Given the description of an element on the screen output the (x, y) to click on. 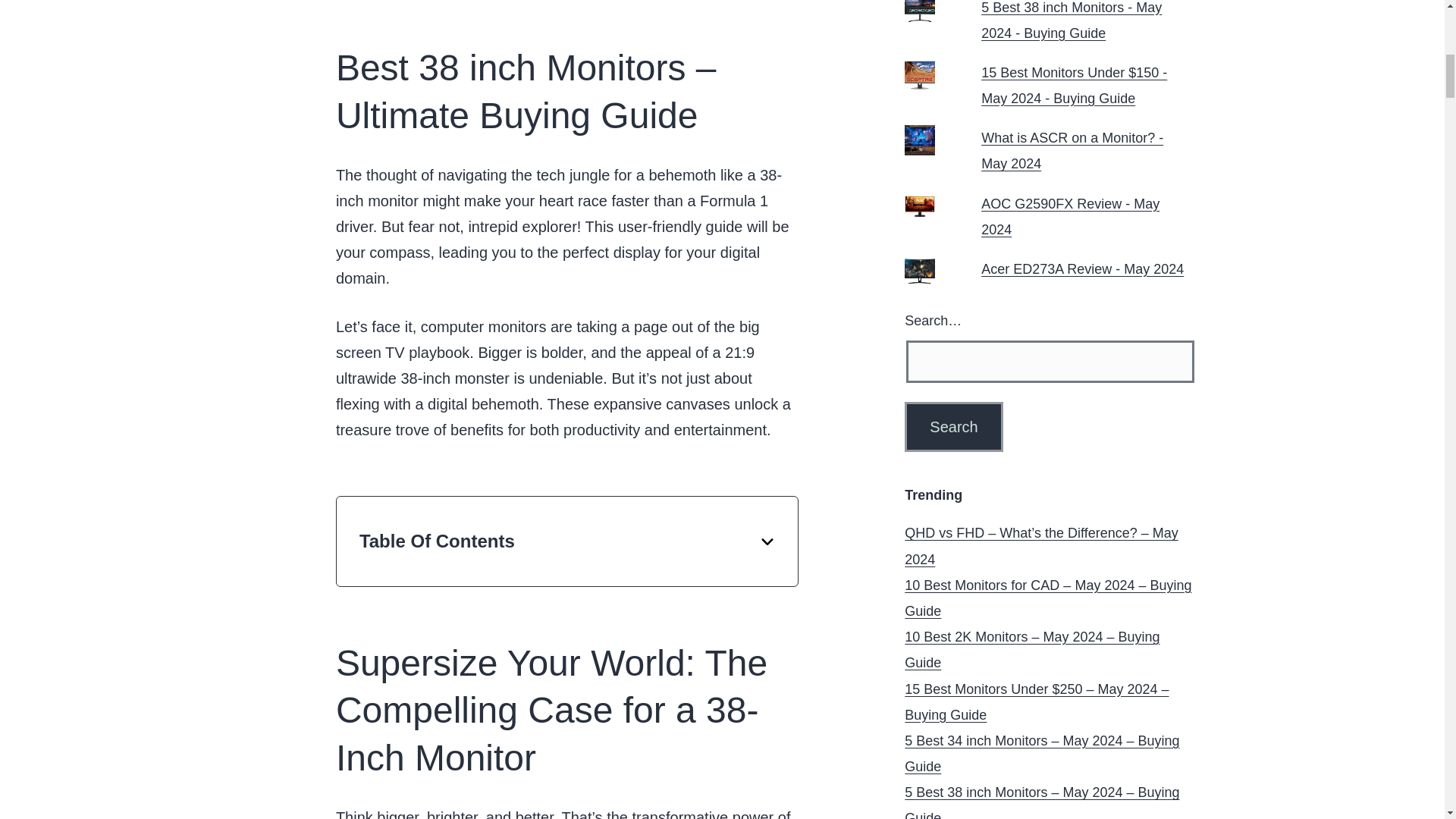
Search (953, 427)
Search (953, 427)
